Given the description of an element on the screen output the (x, y) to click on. 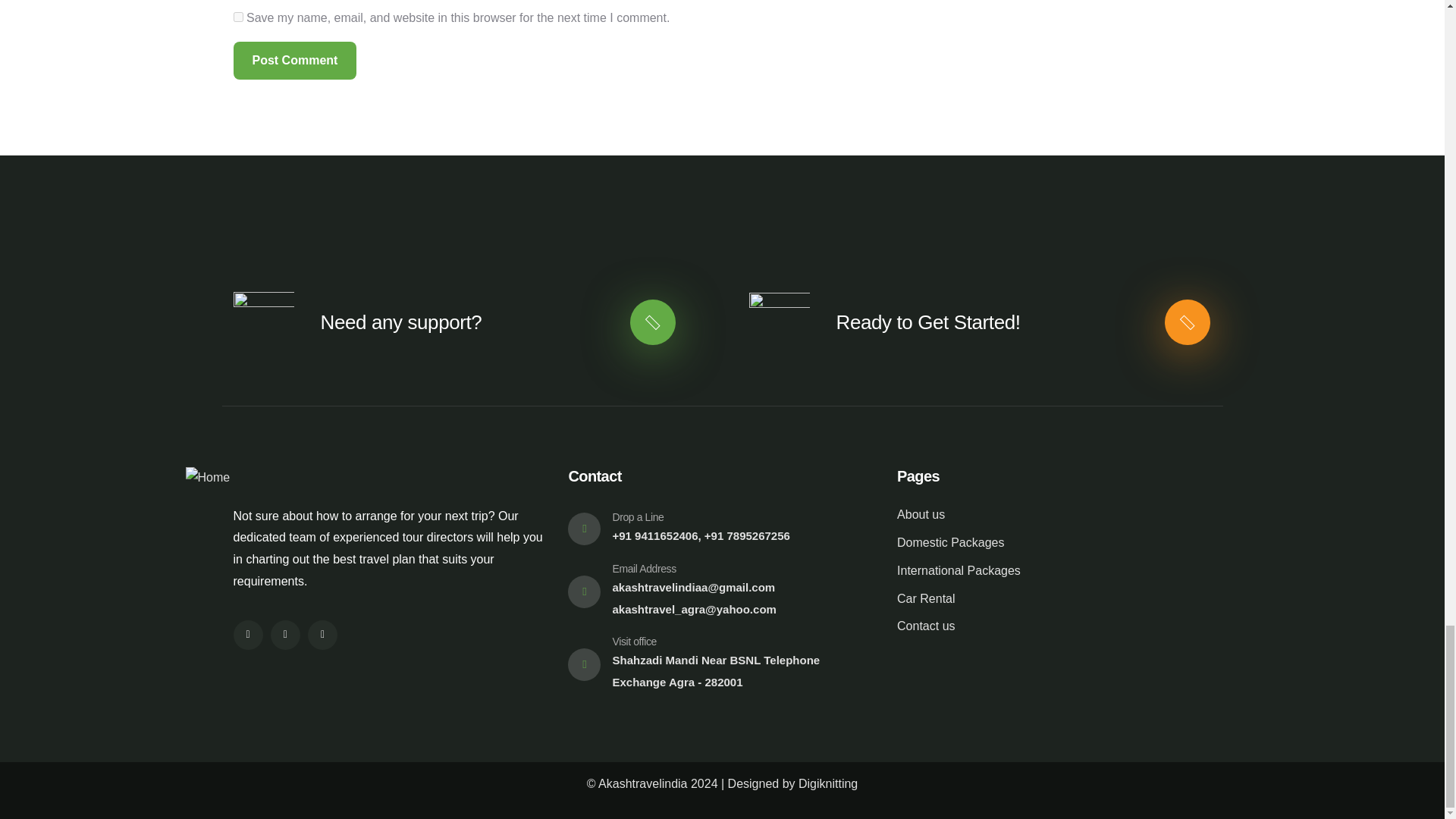
Post Comment (294, 60)
Post Comment (294, 60)
yes (237, 17)
Need any support? (400, 322)
Ready to Get Started! (927, 322)
Home (207, 477)
